Given the description of an element on the screen output the (x, y) to click on. 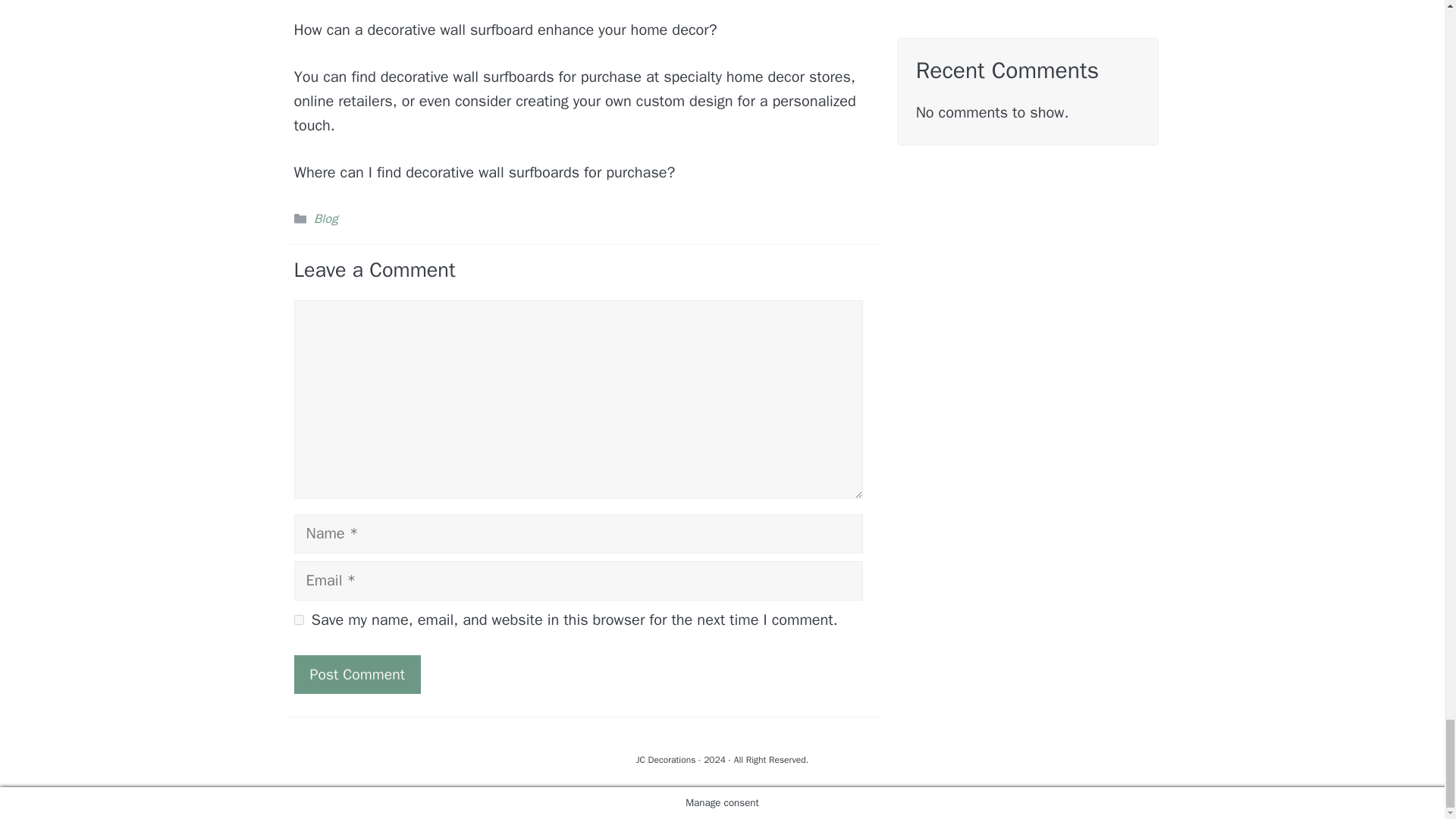
yes (299, 619)
Blog (325, 218)
Post Comment (357, 674)
Post Comment (357, 674)
